Given the description of an element on the screen output the (x, y) to click on. 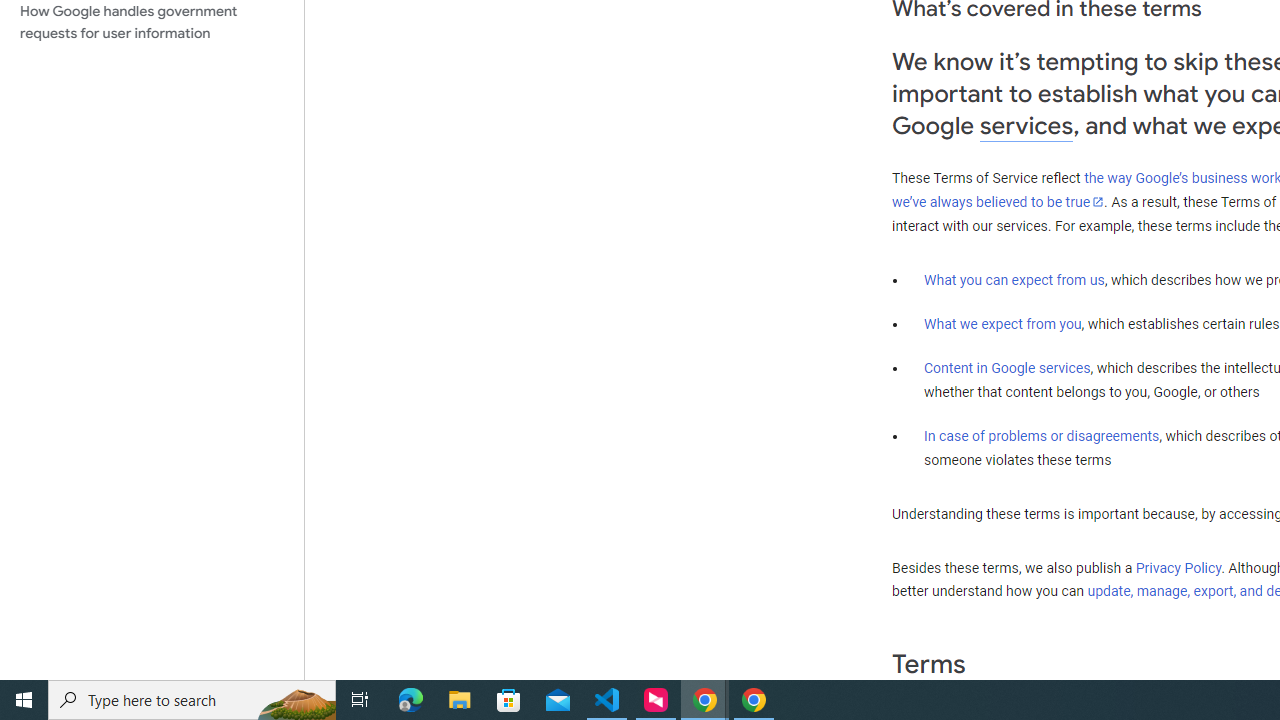
Content in Google services (1007, 368)
In case of problems or disagreements (1041, 435)
What you can expect from us (1014, 279)
What we expect from you (1002, 323)
services (1026, 125)
